Given the description of an element on the screen output the (x, y) to click on. 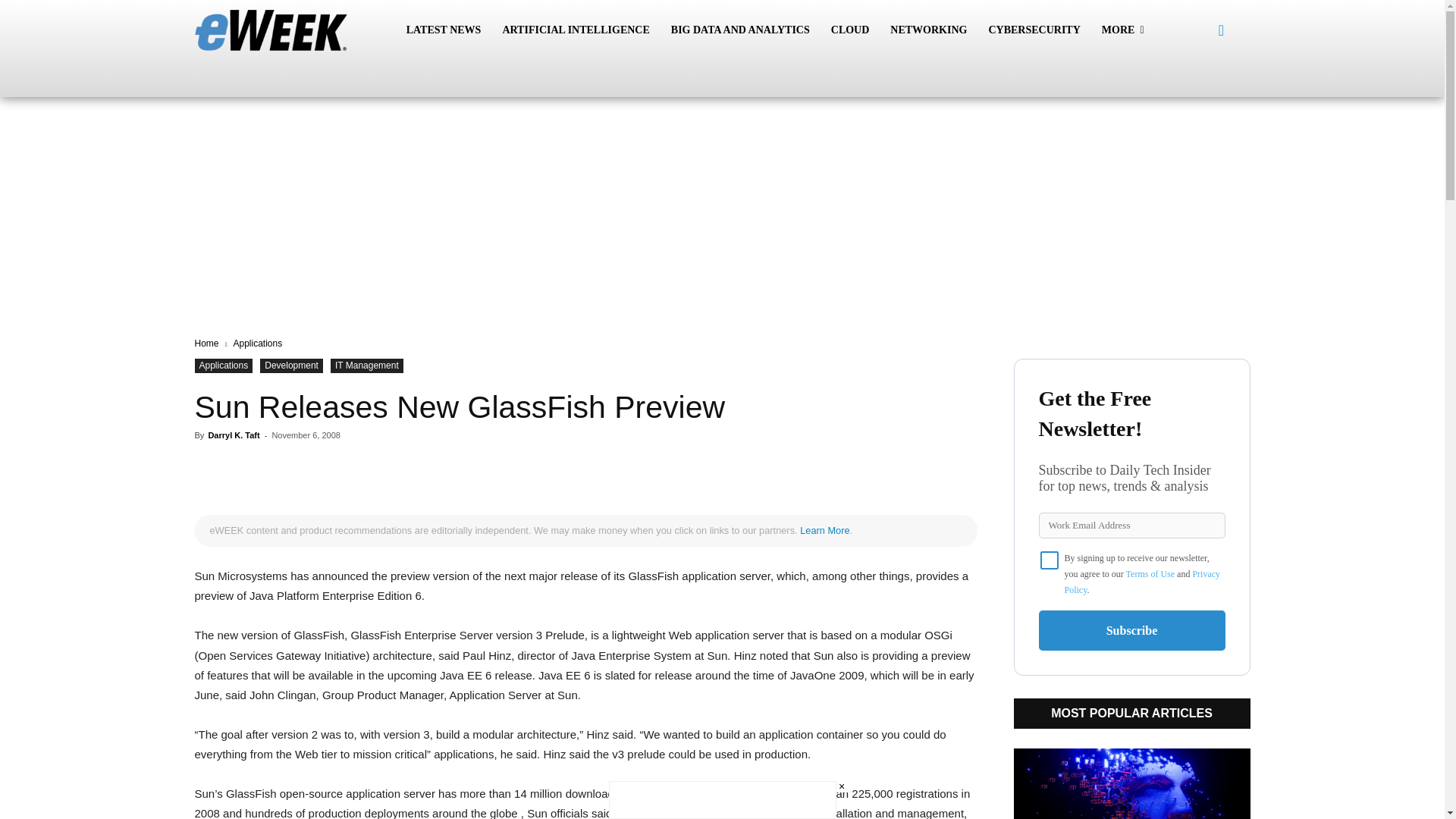
NETWORKING (927, 30)
CLOUD (850, 30)
CYBERSECURITY (1033, 30)
BIG DATA AND ANALYTICS (741, 30)
on (1049, 560)
LATEST NEWS (444, 30)
ARTIFICIAL INTELLIGENCE (575, 30)
